Given the description of an element on the screen output the (x, y) to click on. 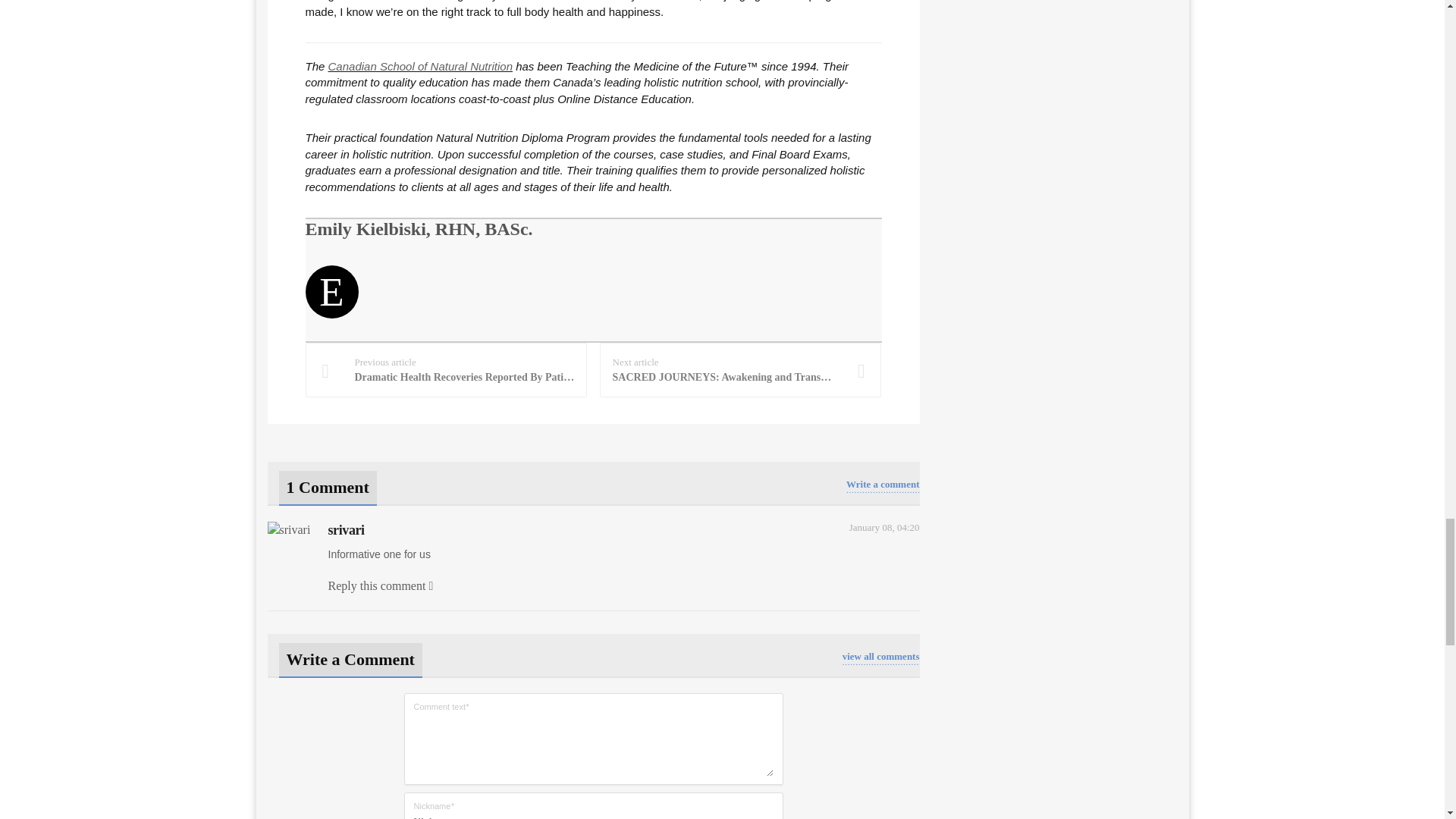
All posts by Emily Kielbiski, RHN, BASc. (418, 229)
